Given the description of an element on the screen output the (x, y) to click on. 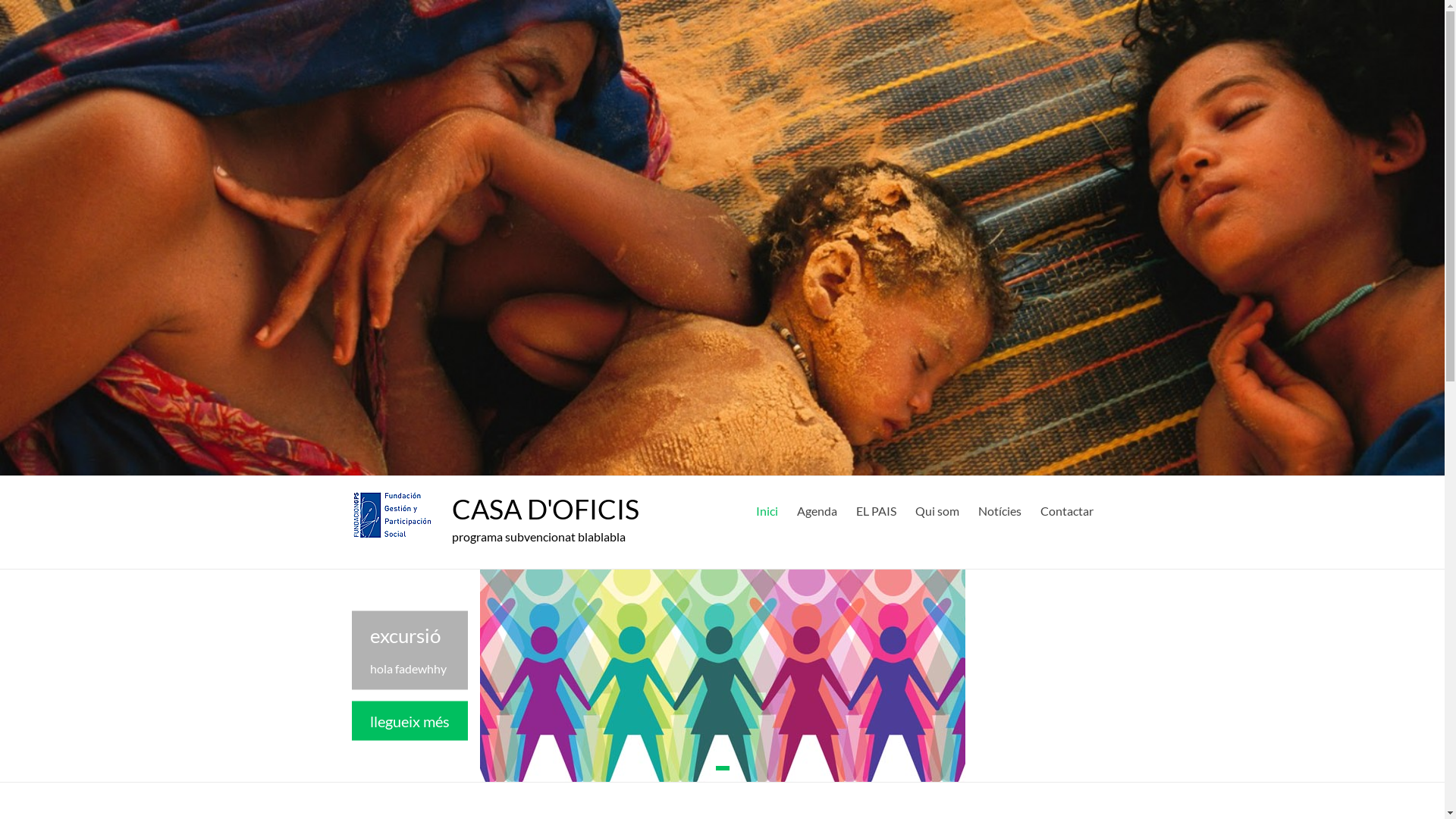
Qui som Element type: text (936, 508)
CASA D'OFICIS Element type: text (545, 508)
EL PAIS Element type: text (875, 508)
Inici Element type: text (766, 508)
Agenda Element type: text (816, 508)
Contactar Element type: text (1066, 508)
